Given the description of an element on the screen output the (x, y) to click on. 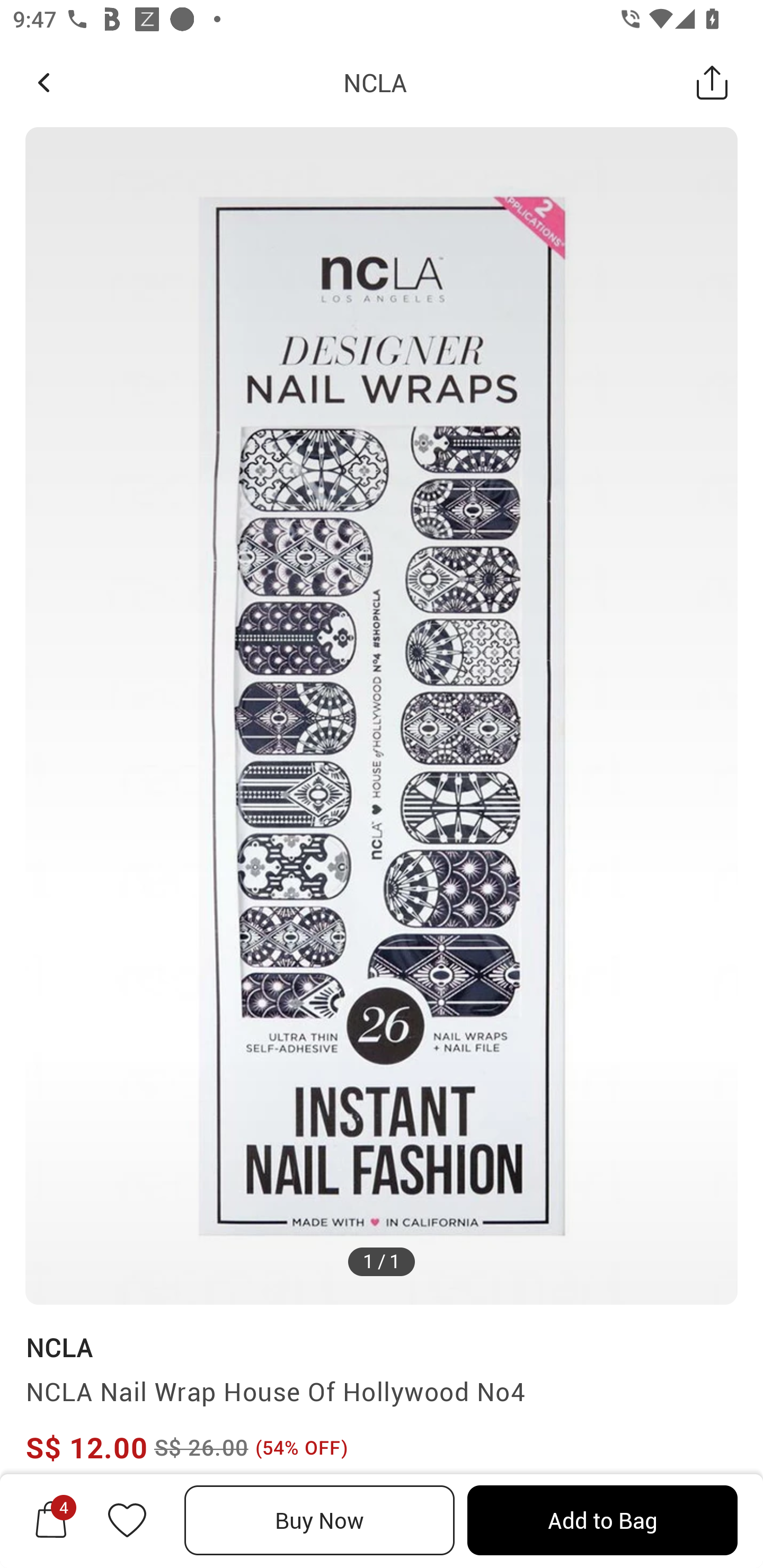
NCLA (375, 82)
Share this Product (711, 82)
NCLA (59, 1346)
Buy Now (319, 1519)
Add to Bag (601, 1519)
4 (50, 1520)
